Given the description of an element on the screen output the (x, y) to click on. 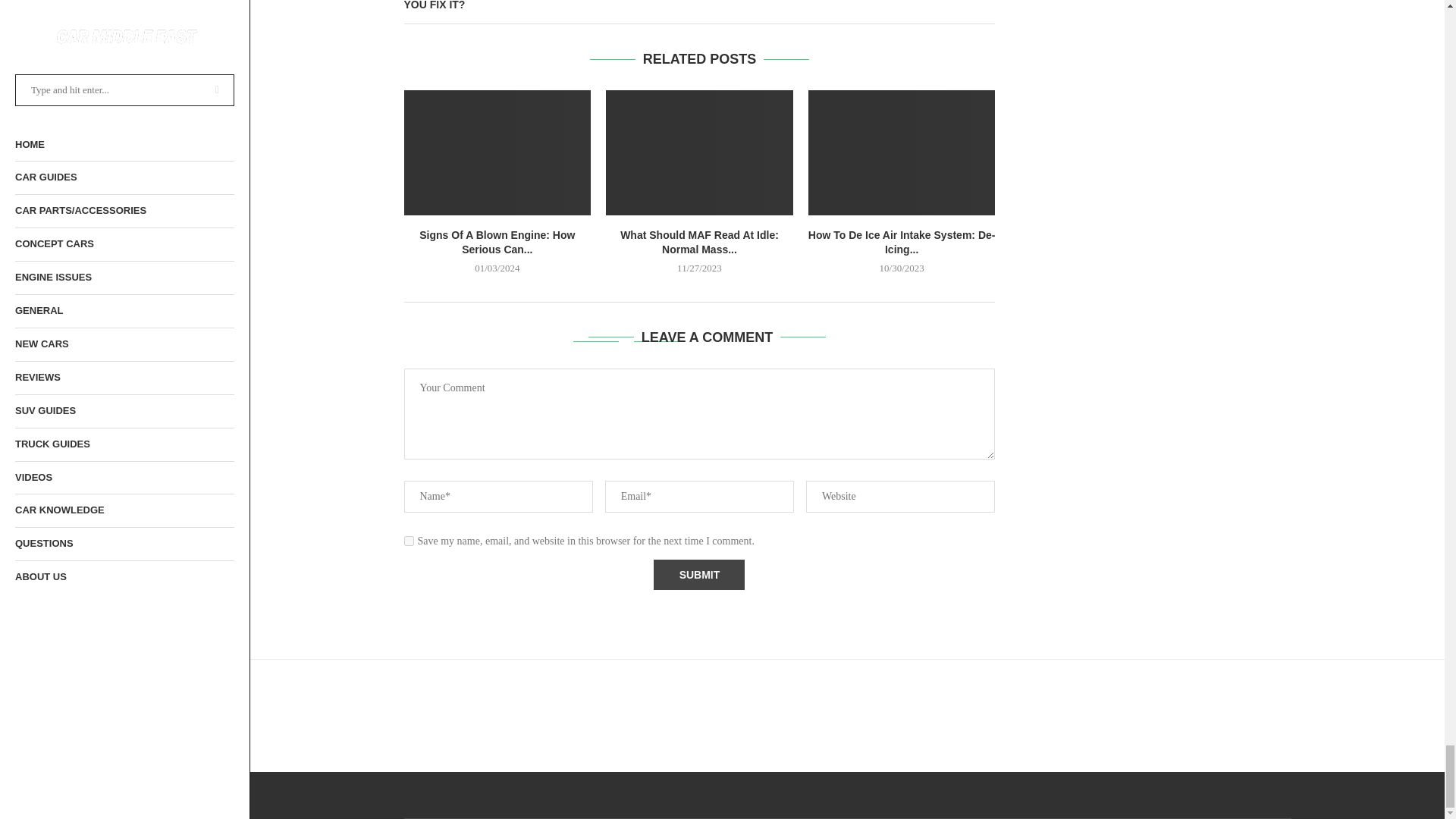
Signs Of A Blown Engine: How Serious Can This Get? (497, 152)
Submit (698, 574)
yes (408, 541)
